Given the description of an element on the screen output the (x, y) to click on. 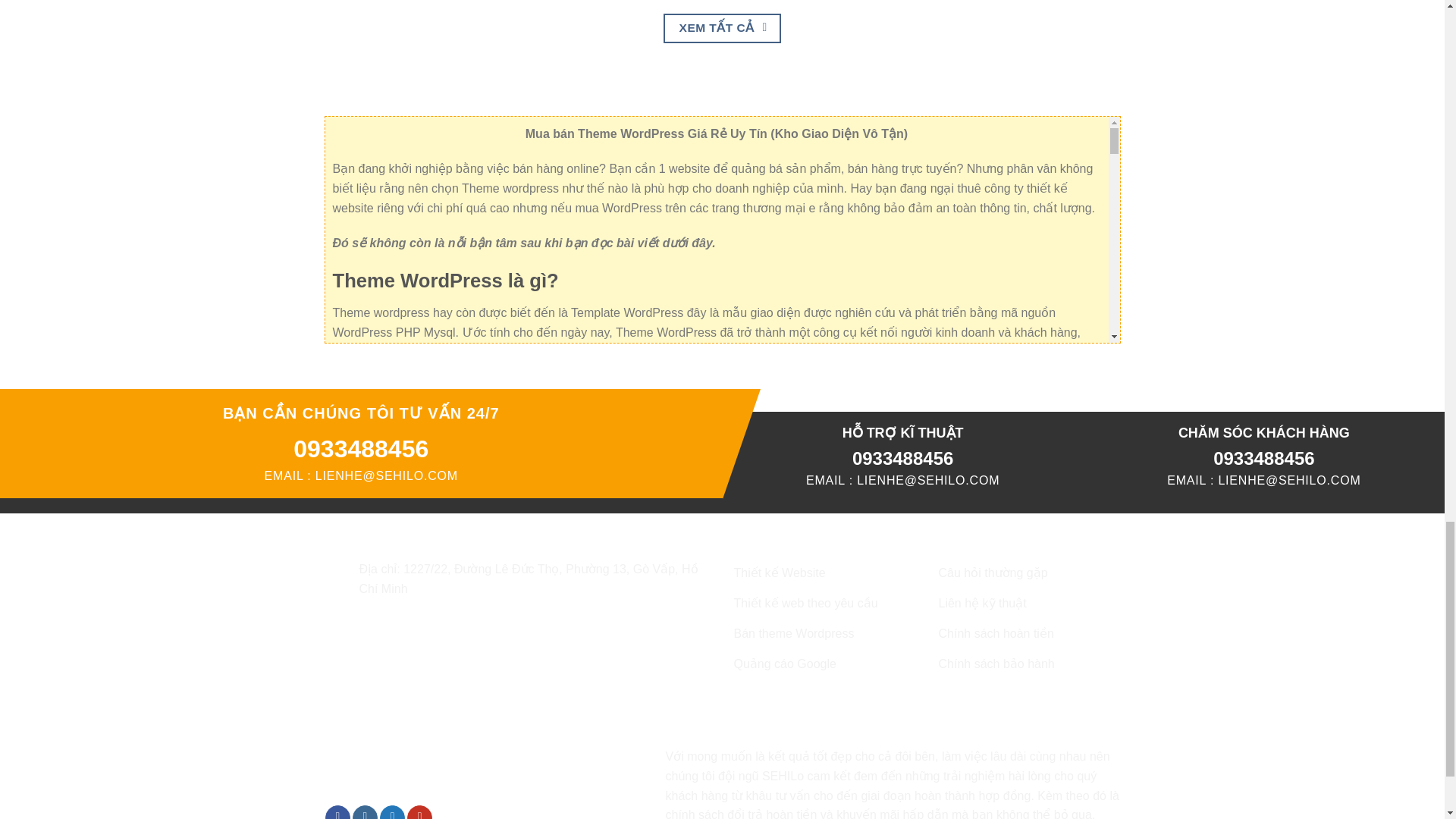
Follow on Twitter (392, 812)
Follow on YouTube (419, 812)
Follow on Instagram (364, 812)
Follow on Facebook (337, 812)
